Given the description of an element on the screen output the (x, y) to click on. 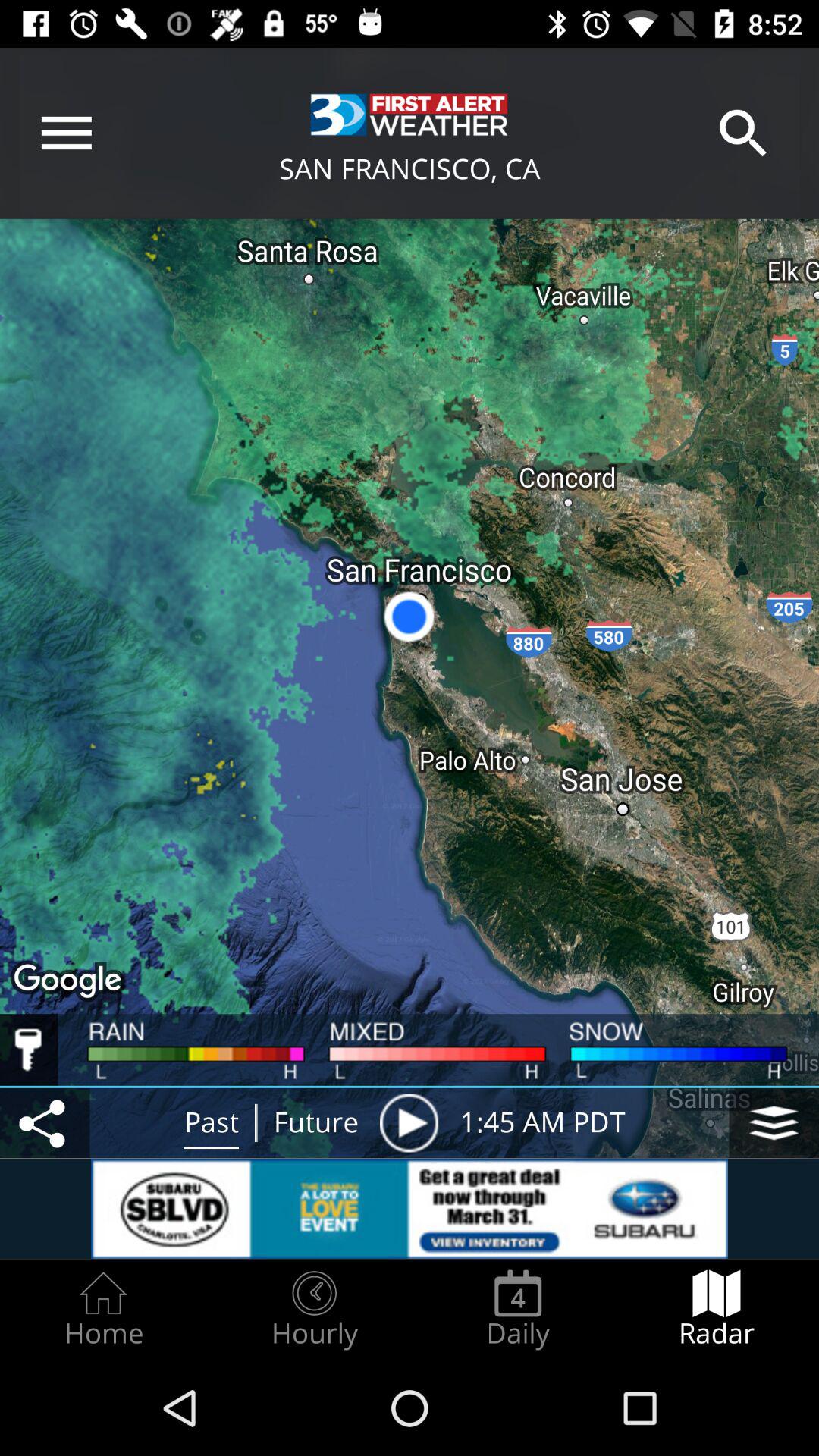
open advertisement (409, 1208)
